Given the description of an element on the screen output the (x, y) to click on. 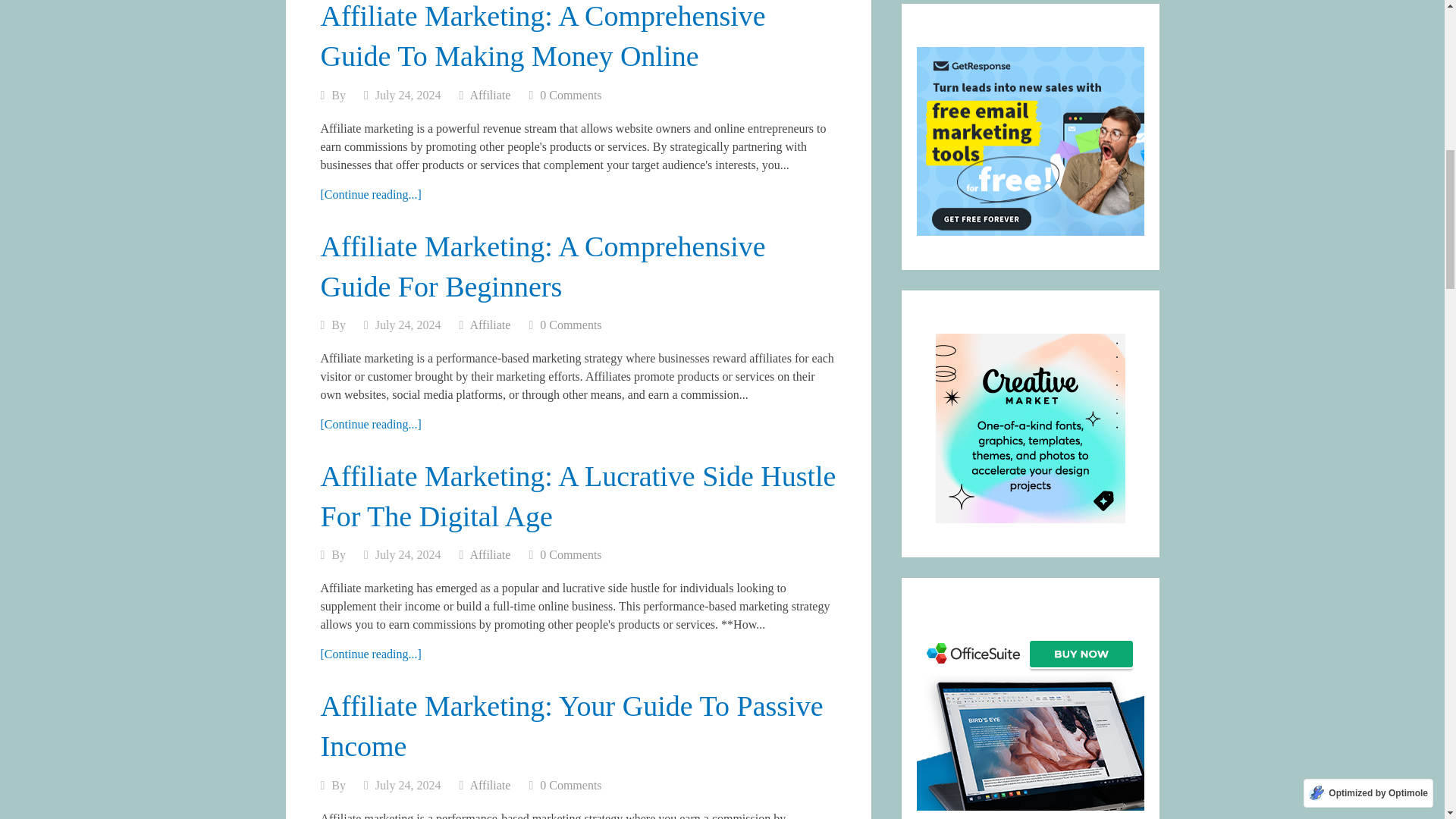
Affiliate Marketing: Your Guide To Passive Income (571, 726)
0 Comments (570, 554)
Affiliate Marketing: A Comprehensive Guide For Beginners (542, 266)
Affiliate (490, 93)
0 Comments (570, 784)
Affiliate (490, 784)
Affiliate Marketing: A Comprehensive Guide For Beginners (542, 266)
Affiliate Marketing: A Comprehensive Guide For Beginners (370, 423)
Affiliate (490, 554)
0 Comments (570, 93)
